Given the description of an element on the screen output the (x, y) to click on. 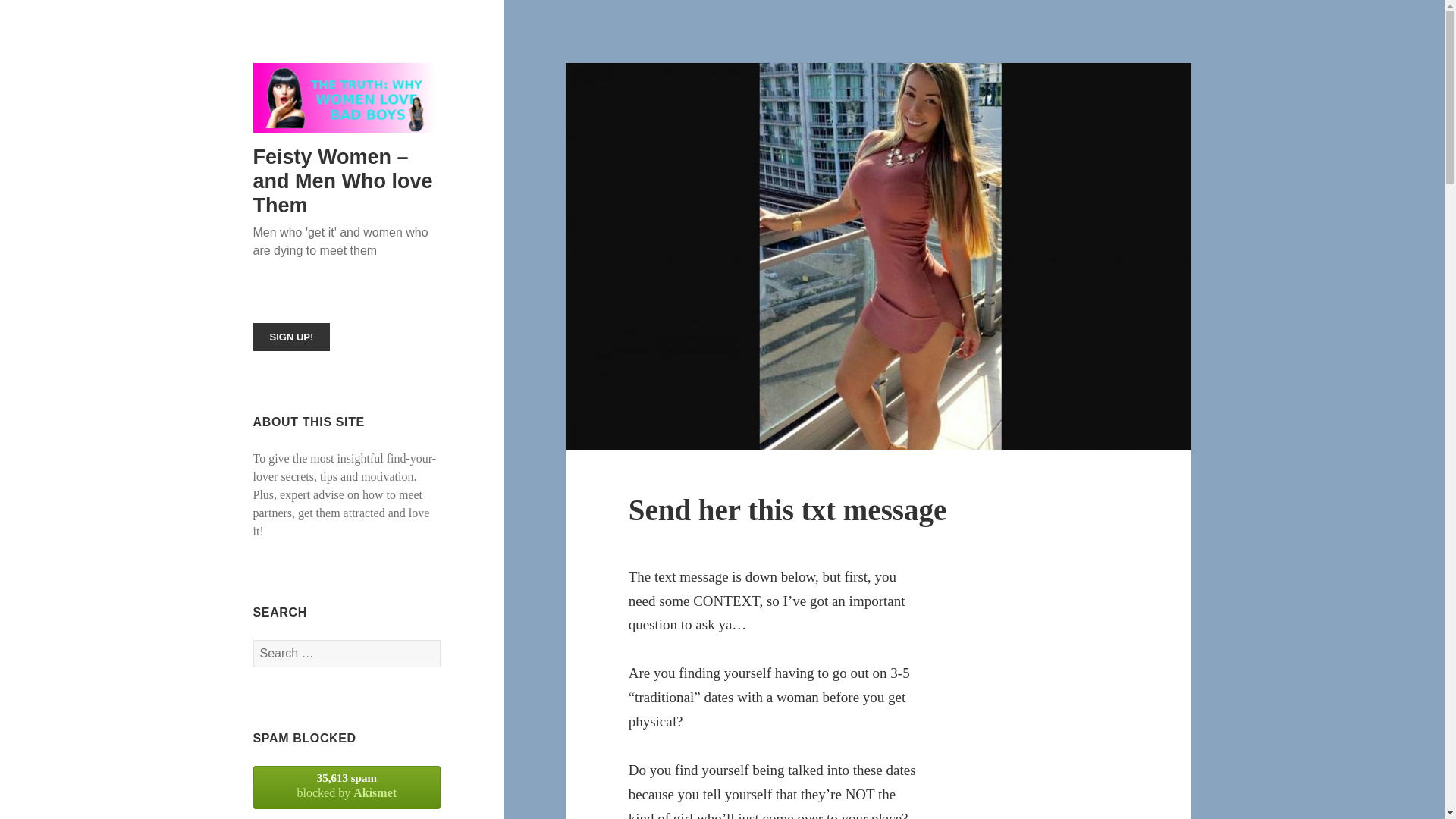
SIGN UP! (291, 336)
Search (347, 787)
